Given the description of an element on the screen output the (x, y) to click on. 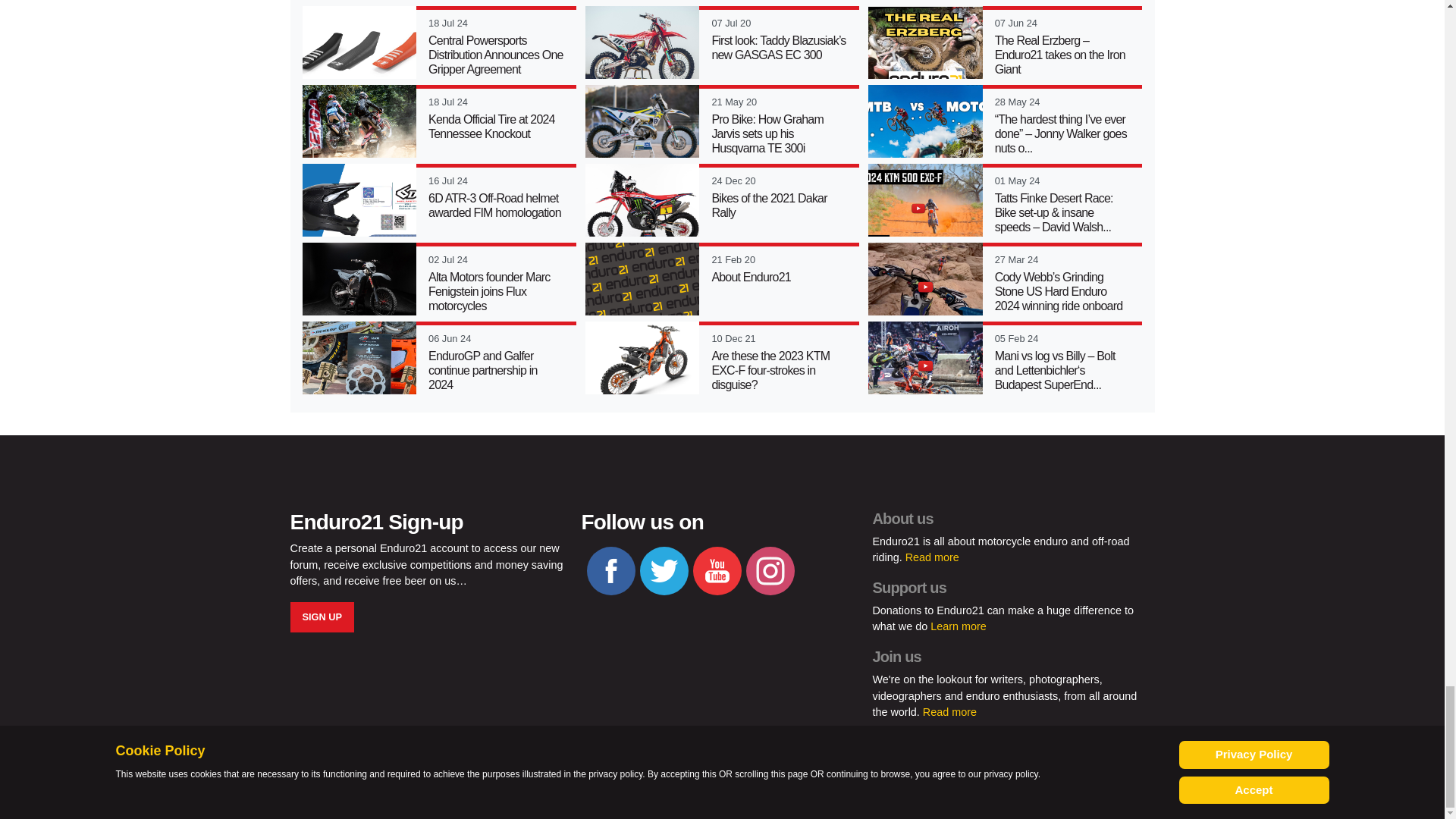
Follow us on Facebook (610, 571)
Follow us on Twitter (664, 571)
Follow us on Instagram (769, 571)
Follow us on Youtube (717, 571)
